Given the description of an element on the screen output the (x, y) to click on. 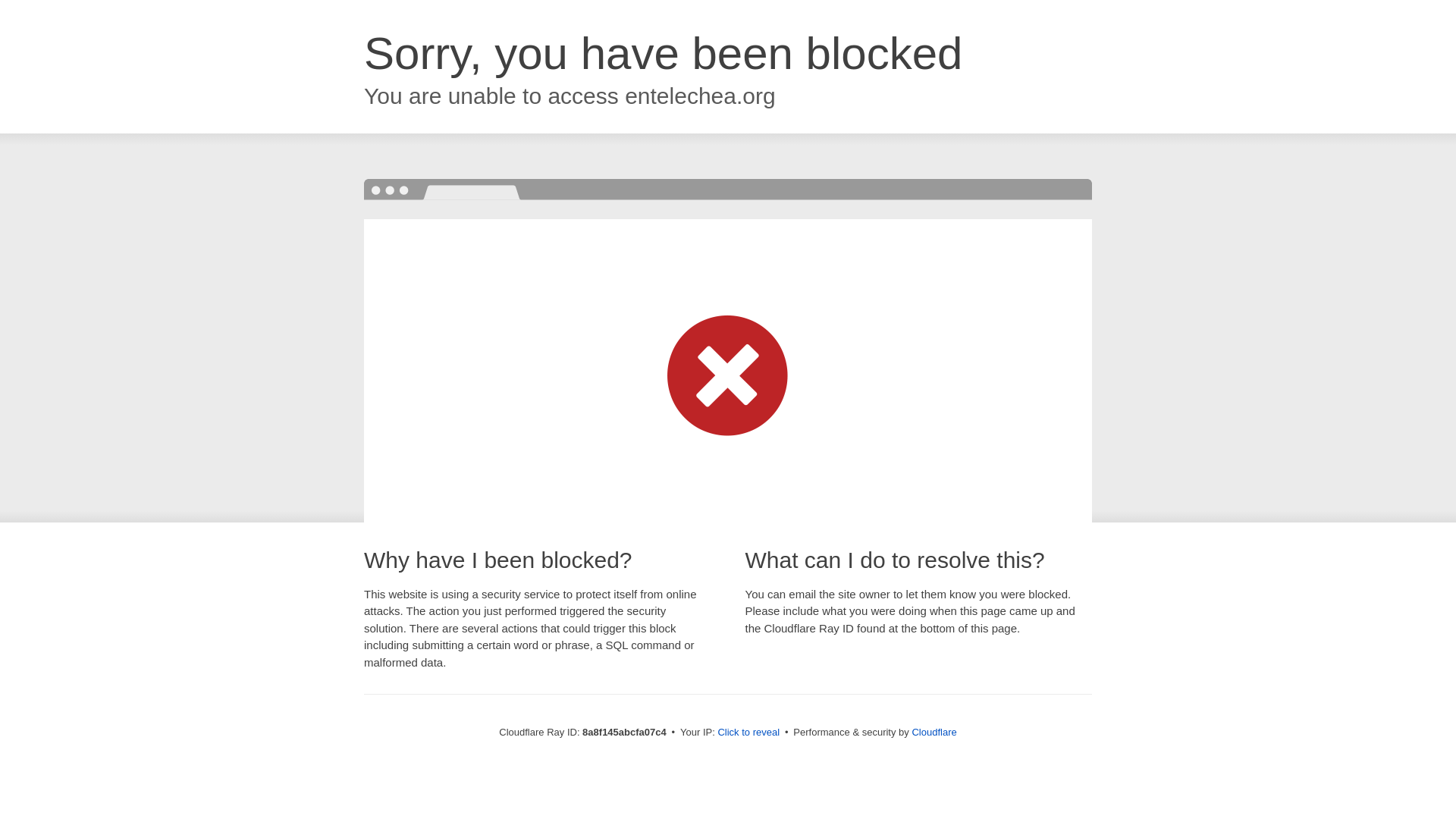
Click to reveal (747, 732)
Cloudflare (933, 731)
